Given the description of an element on the screen output the (x, y) to click on. 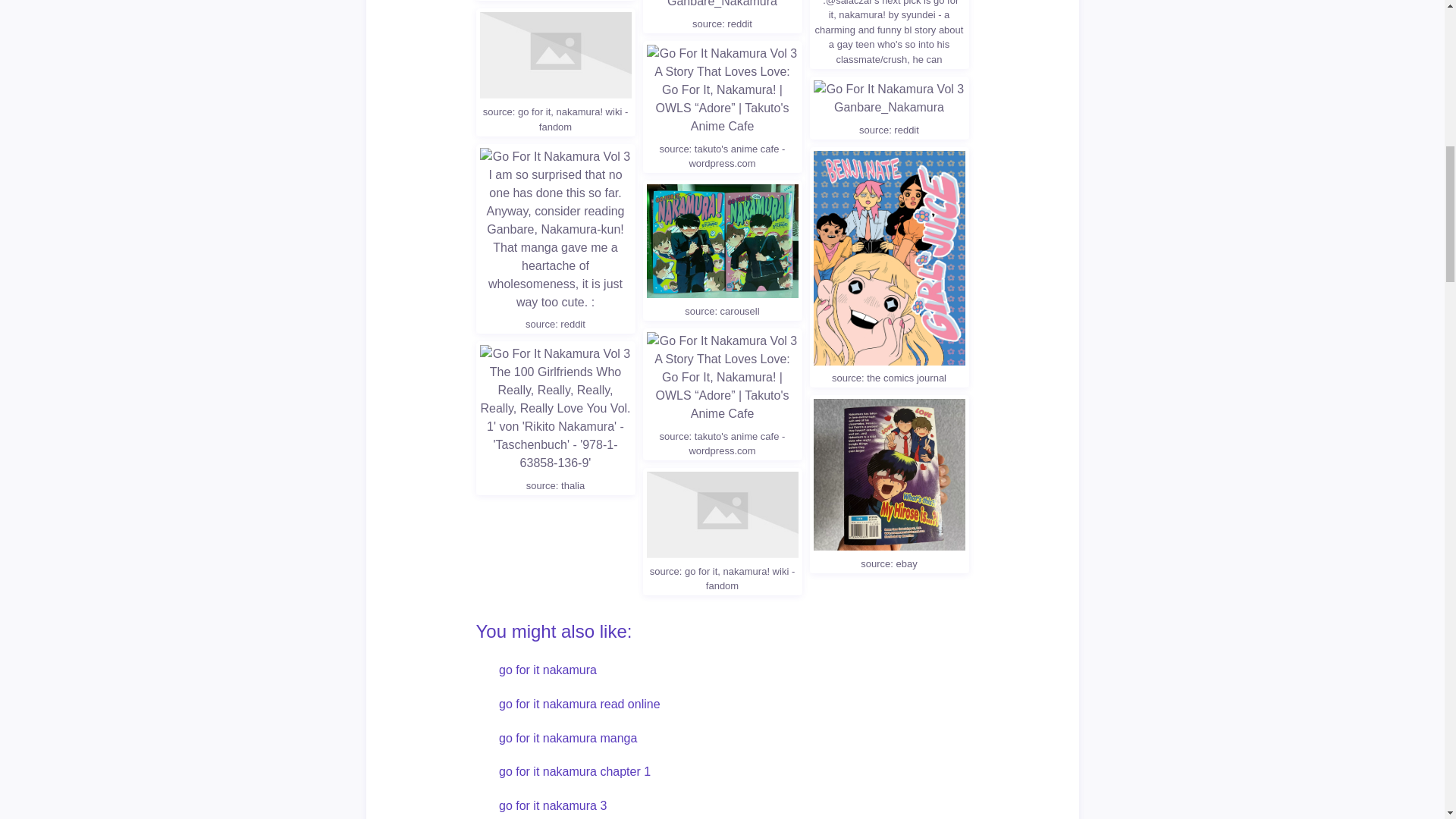
go for it nakamura (547, 669)
go for it nakamura manga (568, 738)
go for it nakamura chapter 1 (574, 771)
go for it nakamura 3 (553, 805)
go for it nakamura read online (580, 704)
